Given the description of an element on the screen output the (x, y) to click on. 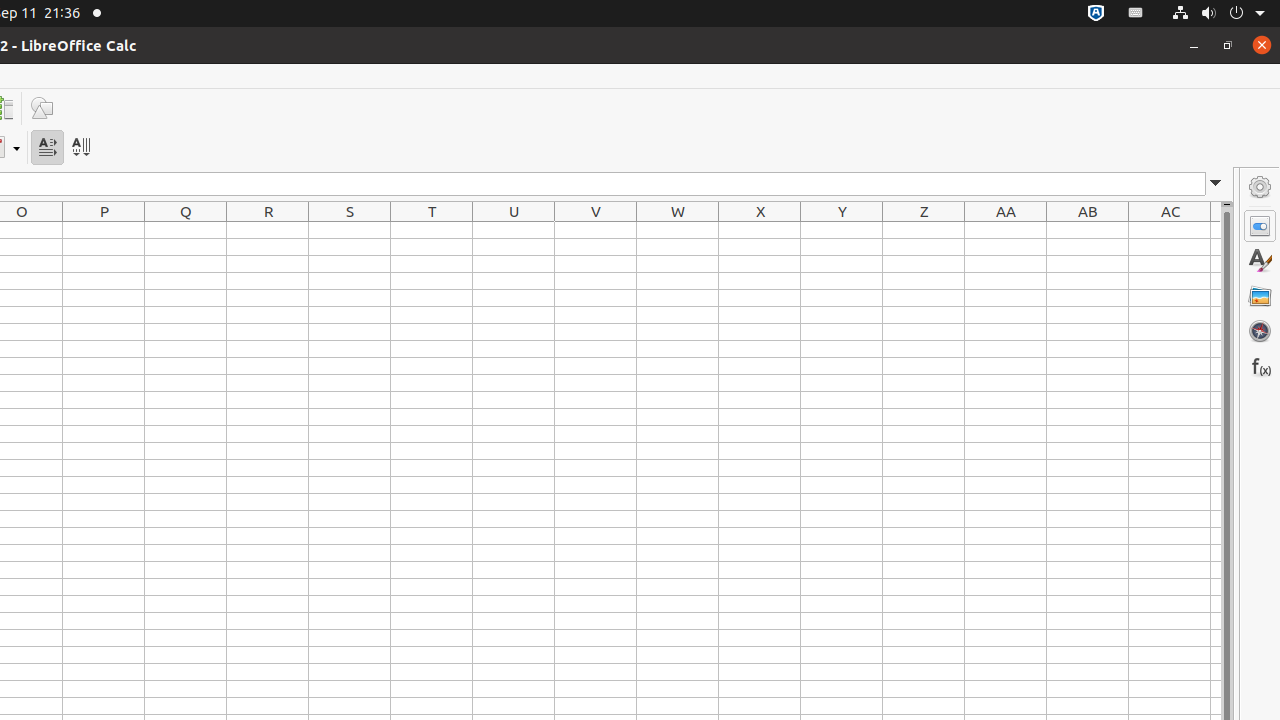
X1 Element type: table-cell (760, 230)
T1 Element type: table-cell (432, 230)
Q1 Element type: table-cell (186, 230)
